Given the description of an element on the screen output the (x, y) to click on. 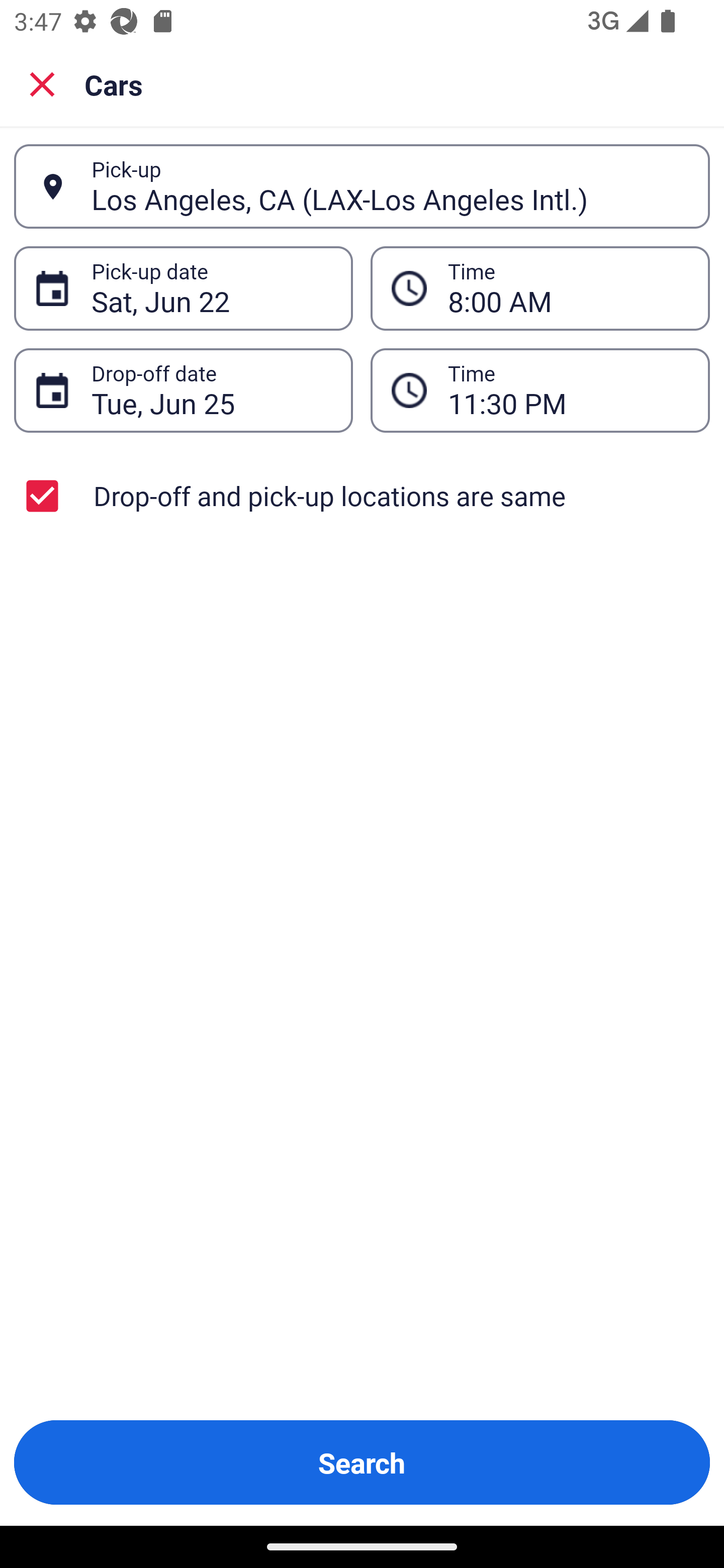
Close search screen (41, 83)
Los Angeles, CA (LAX-Los Angeles Intl.) Pick-up (361, 186)
Los Angeles, CA (LAX-Los Angeles Intl.) (389, 186)
Sat, Jun 22 Pick-up date (183, 288)
8:00 AM (540, 288)
Sat, Jun 22 (211, 288)
8:00 AM (568, 288)
Tue, Jun 25 Drop-off date (183, 390)
11:30 PM (540, 390)
Tue, Jun 25 (211, 390)
11:30 PM (568, 390)
Drop-off and pick-up locations are same (361, 495)
Search Button Search (361, 1462)
